Given the description of an element on the screen output the (x, y) to click on. 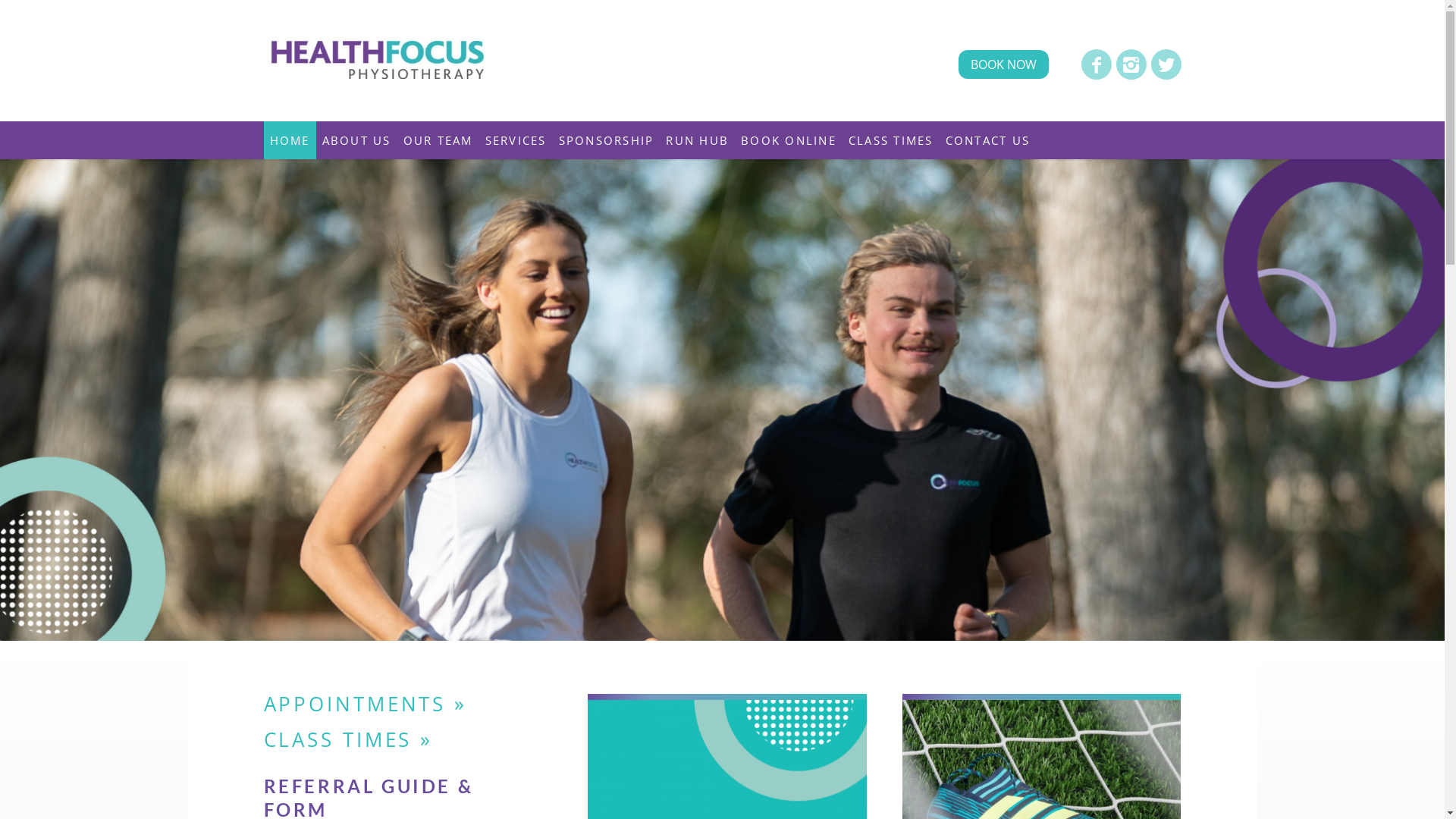
BOOK ONLINE Element type: text (788, 140)
CLASS TIMES Element type: text (890, 140)
1 Element type: hover (722, 399)
OUR TEAM Element type: text (438, 140)
Instagram Element type: hover (1131, 64)
SPONSORSHIP Element type: text (605, 140)
RUN HUB Element type: text (696, 140)
ABOUT US Element type: text (355, 140)
Facebook Element type: hover (1096, 64)
BOOK NOW Element type: text (1003, 64)
SERVICES Element type: text (515, 140)
Twitter Element type: hover (1166, 64)
HOME Element type: text (289, 140)
CONTACT US Element type: text (988, 140)
